Given the description of an element on the screen output the (x, y) to click on. 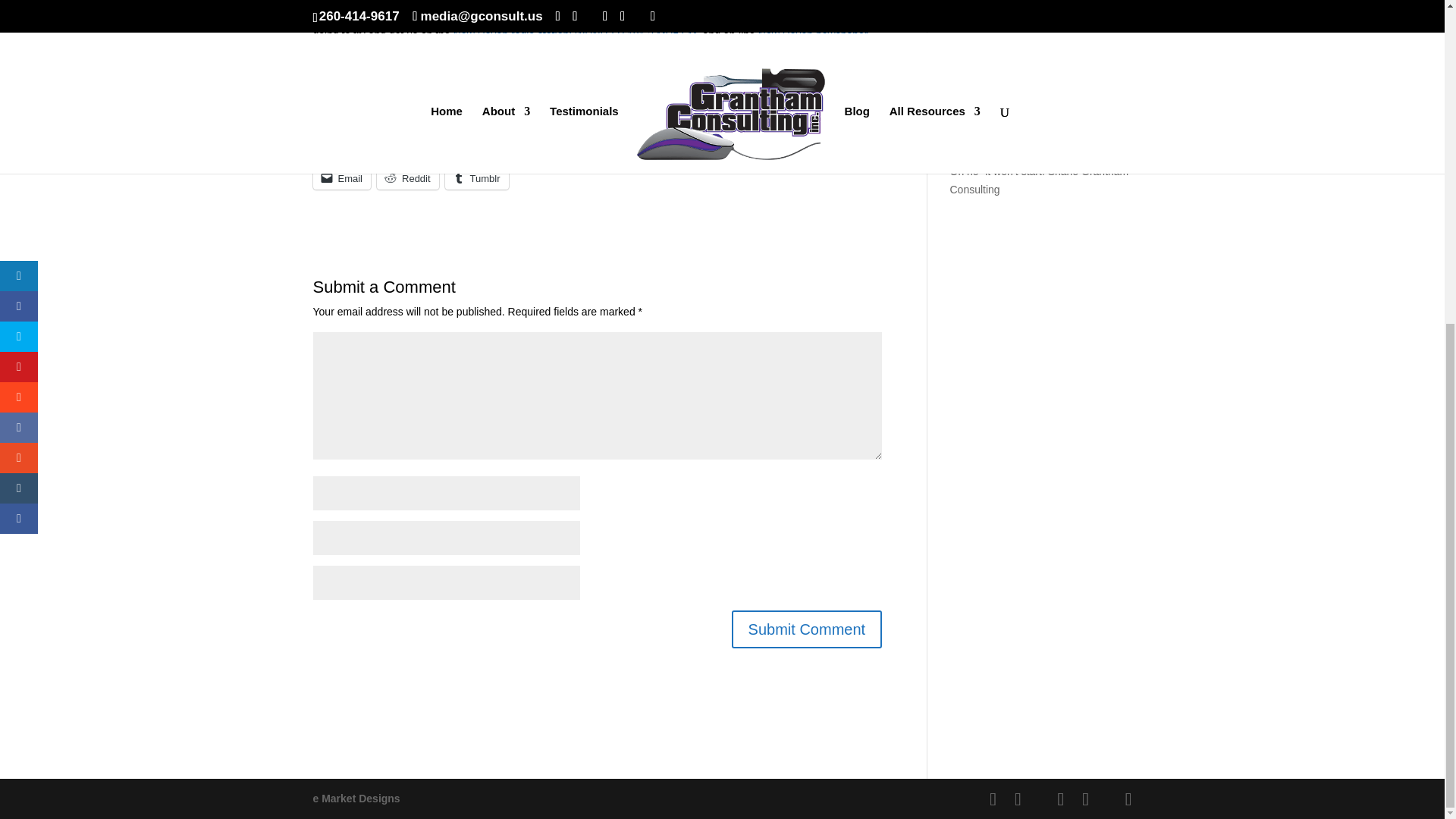
Click to share on Facebook (782, 110)
Submit Comment (807, 629)
Click to share on YouTube (641, 111)
Click to share on Twitter (420, 110)
Click to share on Minds (709, 111)
Click to share on Instagram (349, 145)
Click to share on Rumble (741, 145)
Click to email a link to a friend (342, 178)
Click to share on Pinterest (666, 144)
Click to share on MySpace (504, 145)
Click to share on Pocket (489, 110)
Click to share on Snapchat (427, 145)
Click to share on WhatsApp (585, 144)
Click to share on Gab (803, 145)
Click to share on LinkedIn (347, 110)
